Given the description of an element on the screen output the (x, y) to click on. 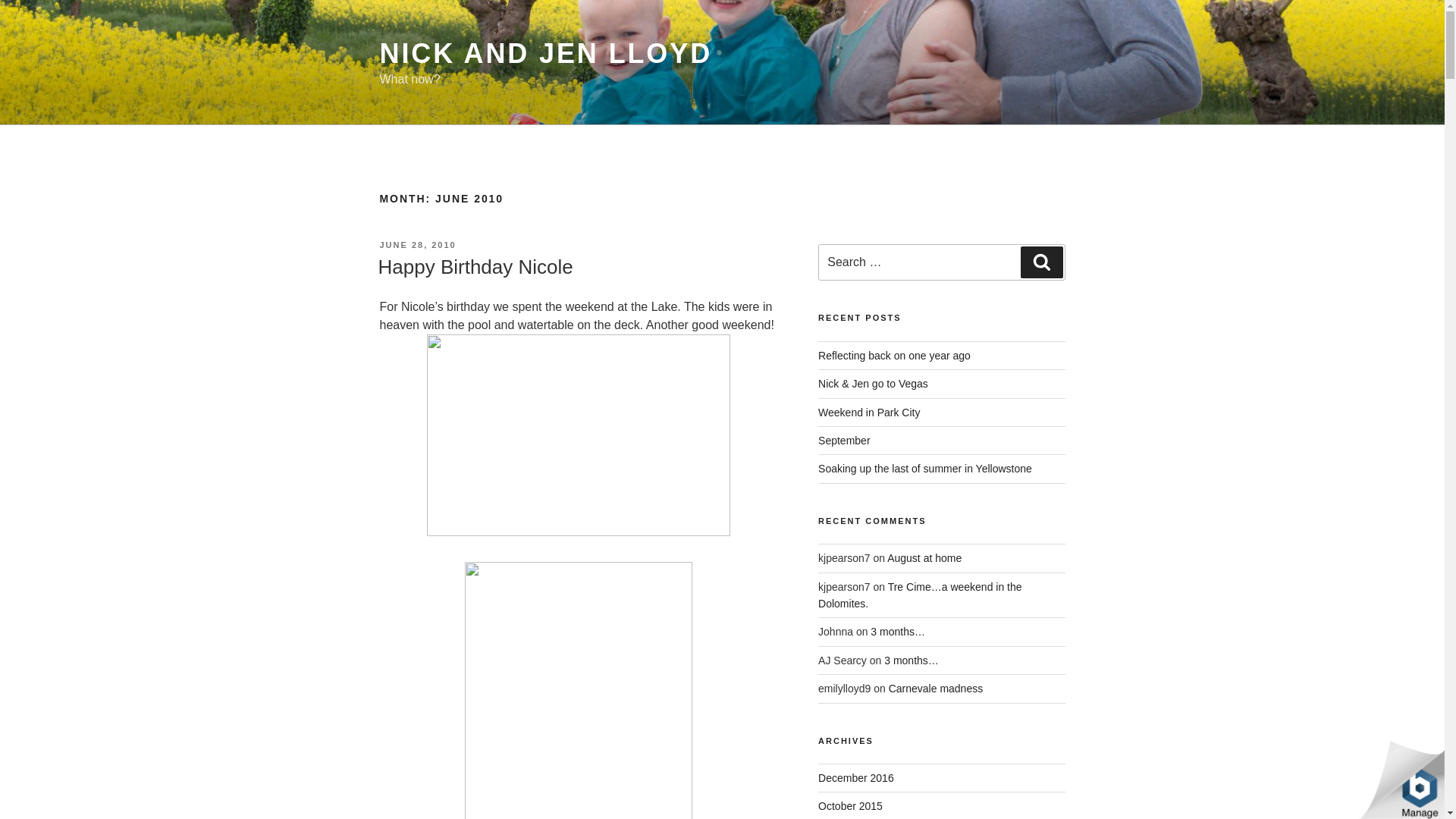
NICK AND JEN LLOYD (544, 52)
Happy Birthday Nicole (474, 266)
JUNE 28, 2010 (416, 244)
